Given the description of an element on the screen output the (x, y) to click on. 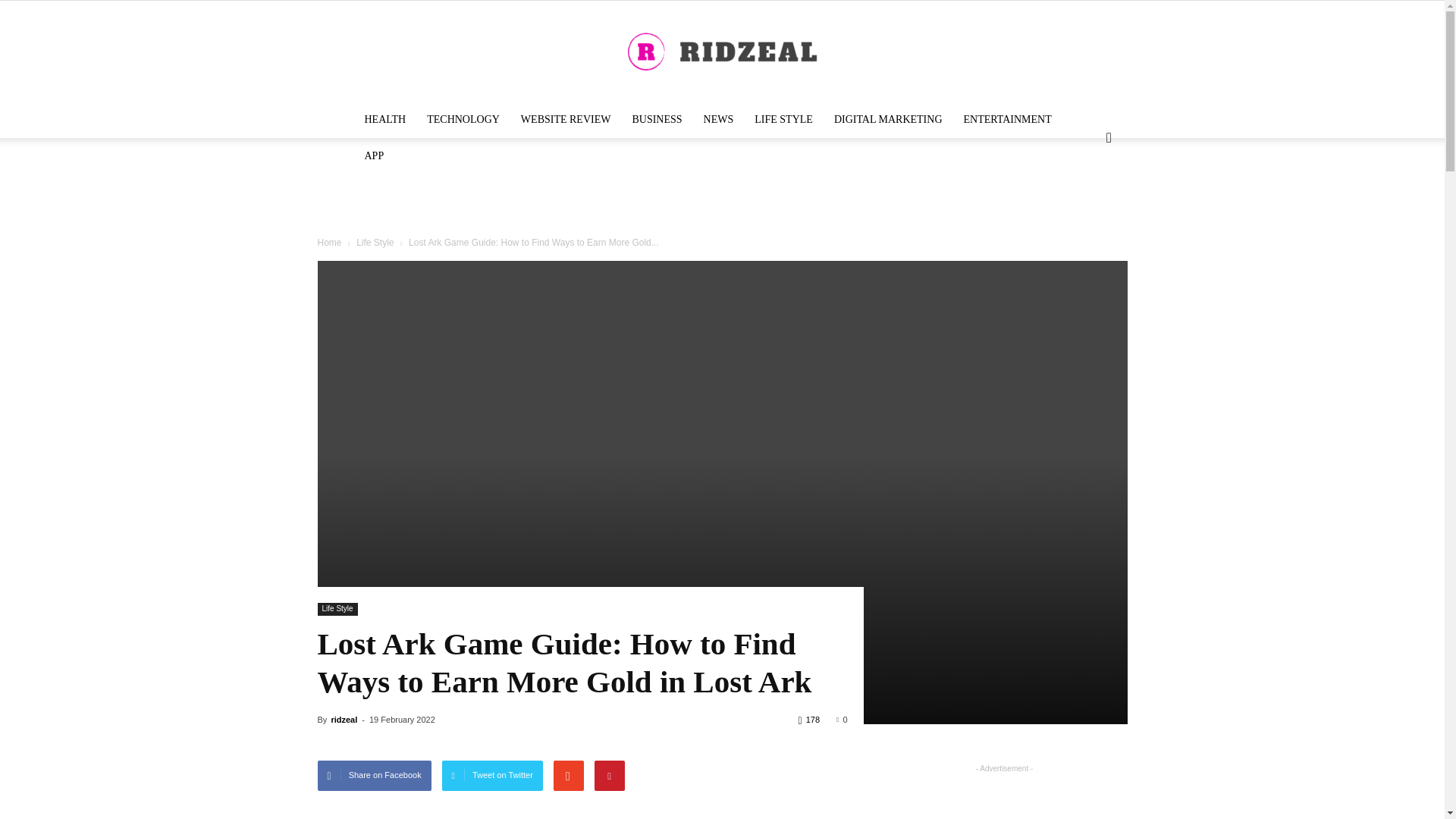
TECHNOLOGY (463, 119)
ENTERTAINMENT (1006, 119)
Tweet on Twitter (492, 775)
ridzeal (343, 718)
WEBSITE REVIEW (566, 119)
LIFE STYLE (784, 119)
Home (328, 242)
Search (1085, 216)
DIGITAL MARKETING (888, 119)
Share on Facebook (373, 775)
